Given the description of an element on the screen output the (x, y) to click on. 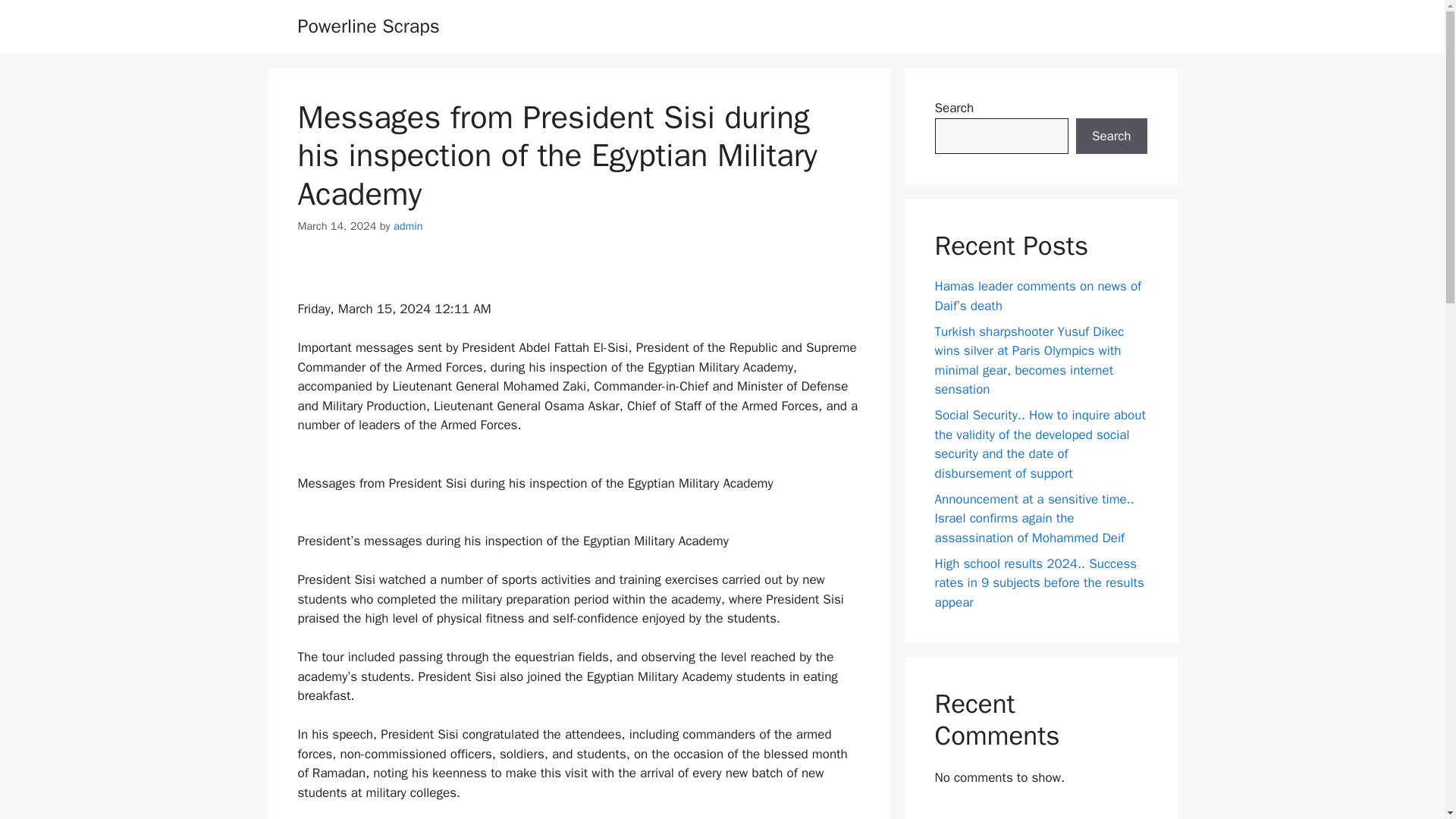
admin (408, 225)
Search (1111, 135)
View all posts by admin (408, 225)
Powerline Scraps (368, 25)
